Given the description of an element on the screen output the (x, y) to click on. 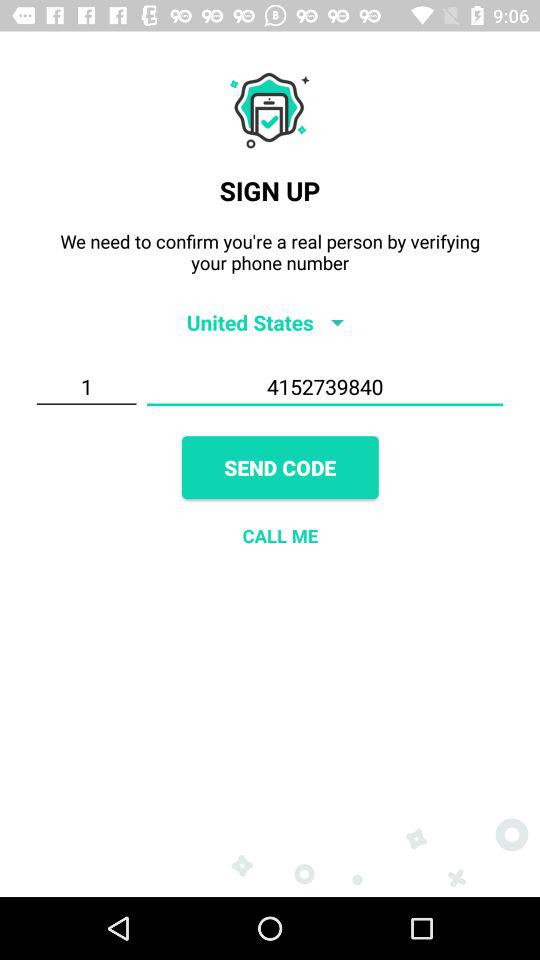
click item to the right of 1 (324, 387)
